Given the description of an element on the screen output the (x, y) to click on. 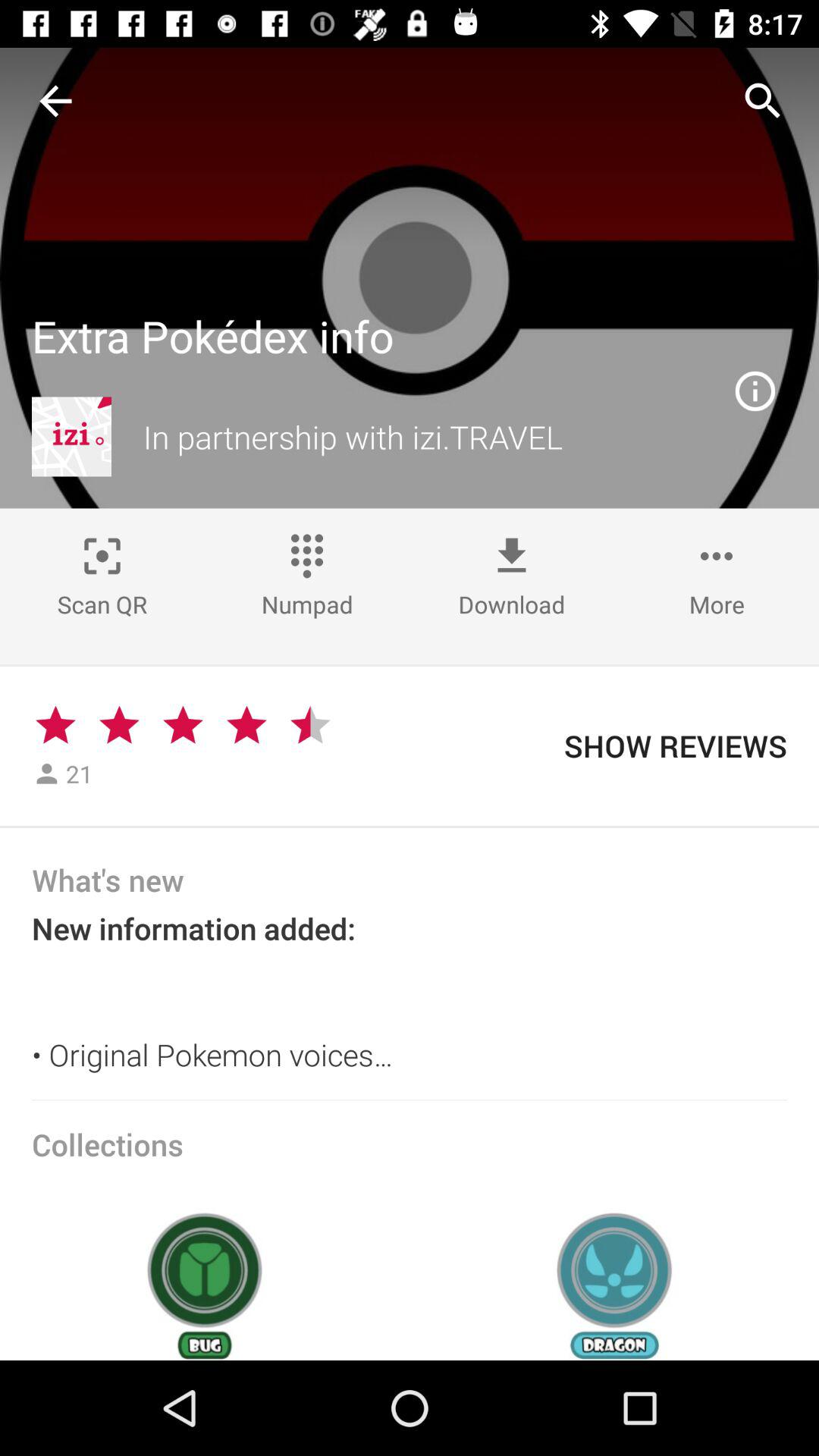
tap 21 icon (79, 773)
